Given the description of an element on the screen output the (x, y) to click on. 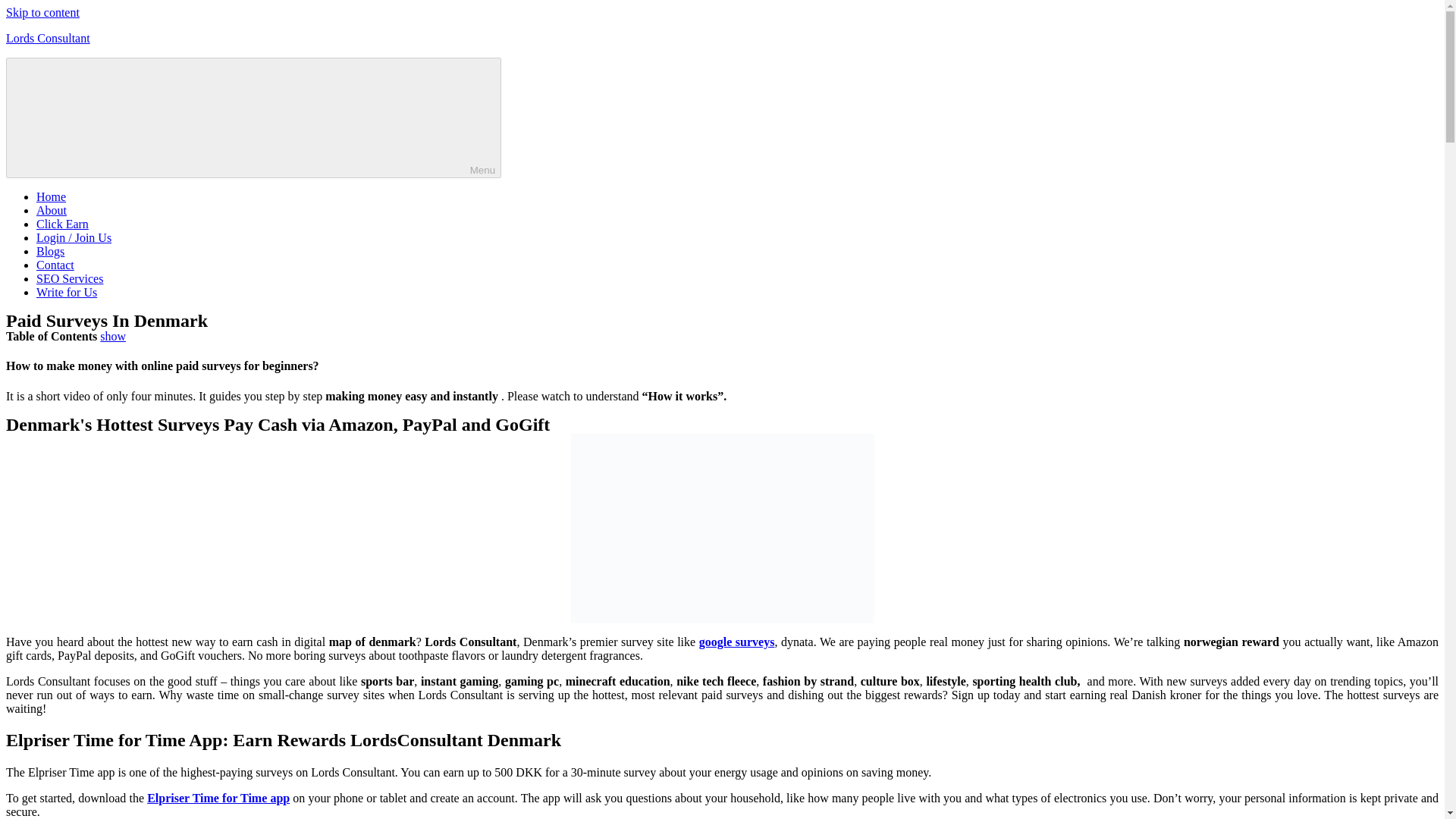
Click Earn (62, 223)
show (112, 336)
Home (50, 196)
Lords Consultant (47, 38)
Contact (55, 264)
google surveys (736, 641)
Write for Us (66, 291)
Menu (252, 117)
SEO Services (69, 278)
Blogs (50, 250)
Skip to content (42, 11)
Online Paid Survey Denmark 1 (721, 528)
About (51, 210)
